Given the description of an element on the screen output the (x, y) to click on. 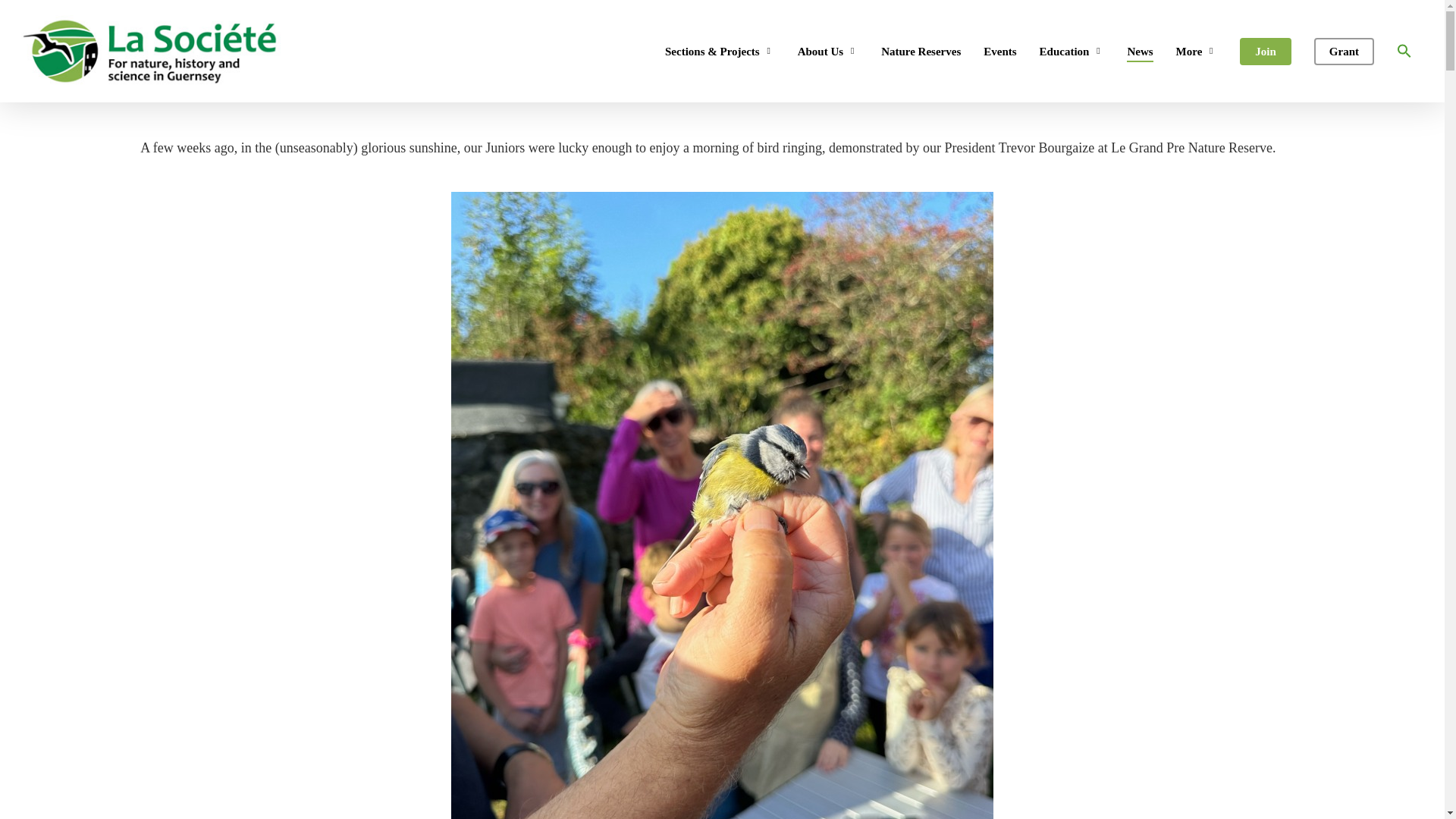
Nature Reserves (920, 50)
About Us (828, 50)
